Given the description of an element on the screen output the (x, y) to click on. 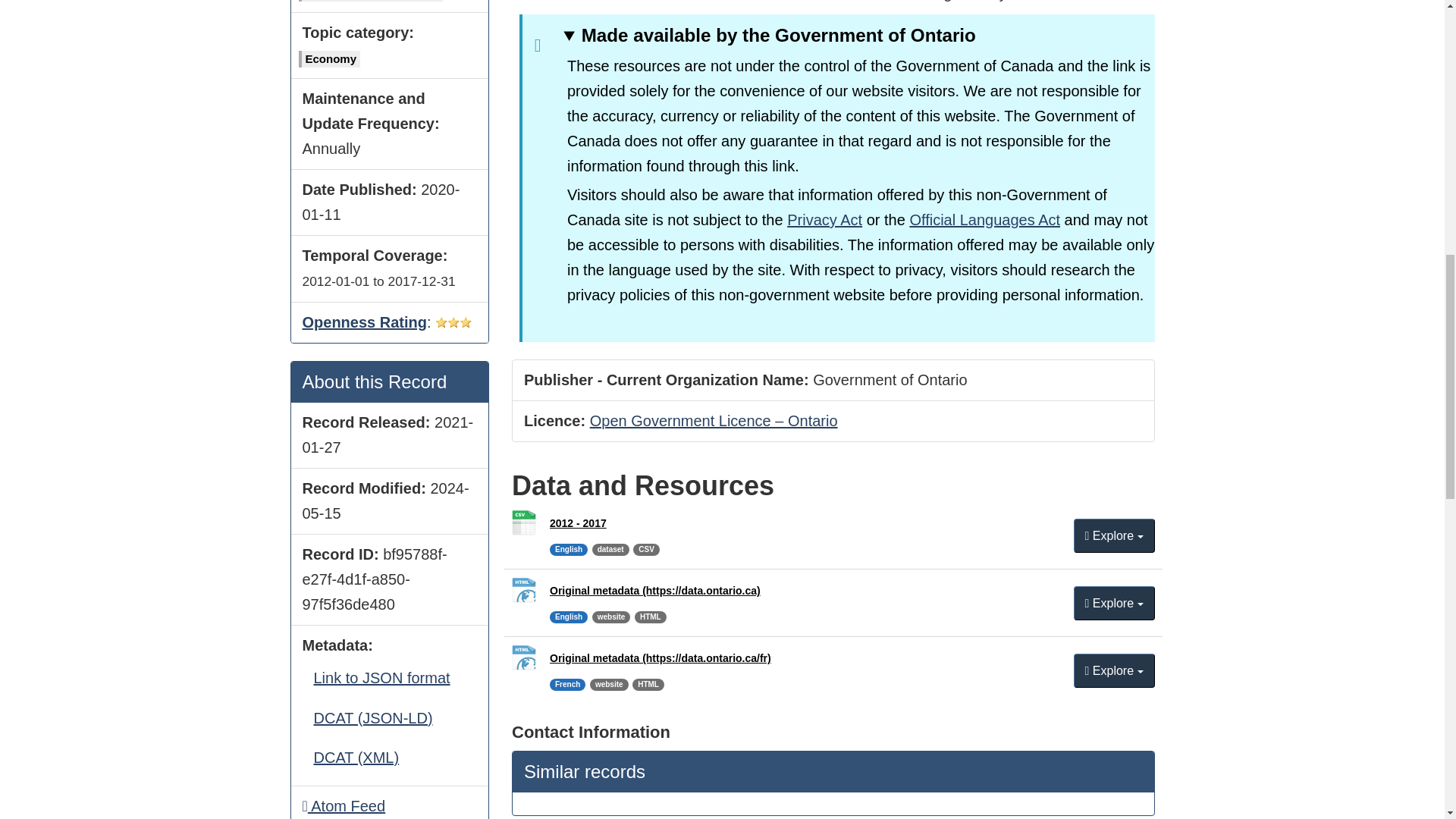
RSS (578, 522)
 Explore  (343, 805)
Official Languages Act (1114, 602)
Privacy Act (983, 219)
 Explore  (824, 219)
2012 - 2017 (1114, 535)
